Given the description of an element on the screen output the (x, y) to click on. 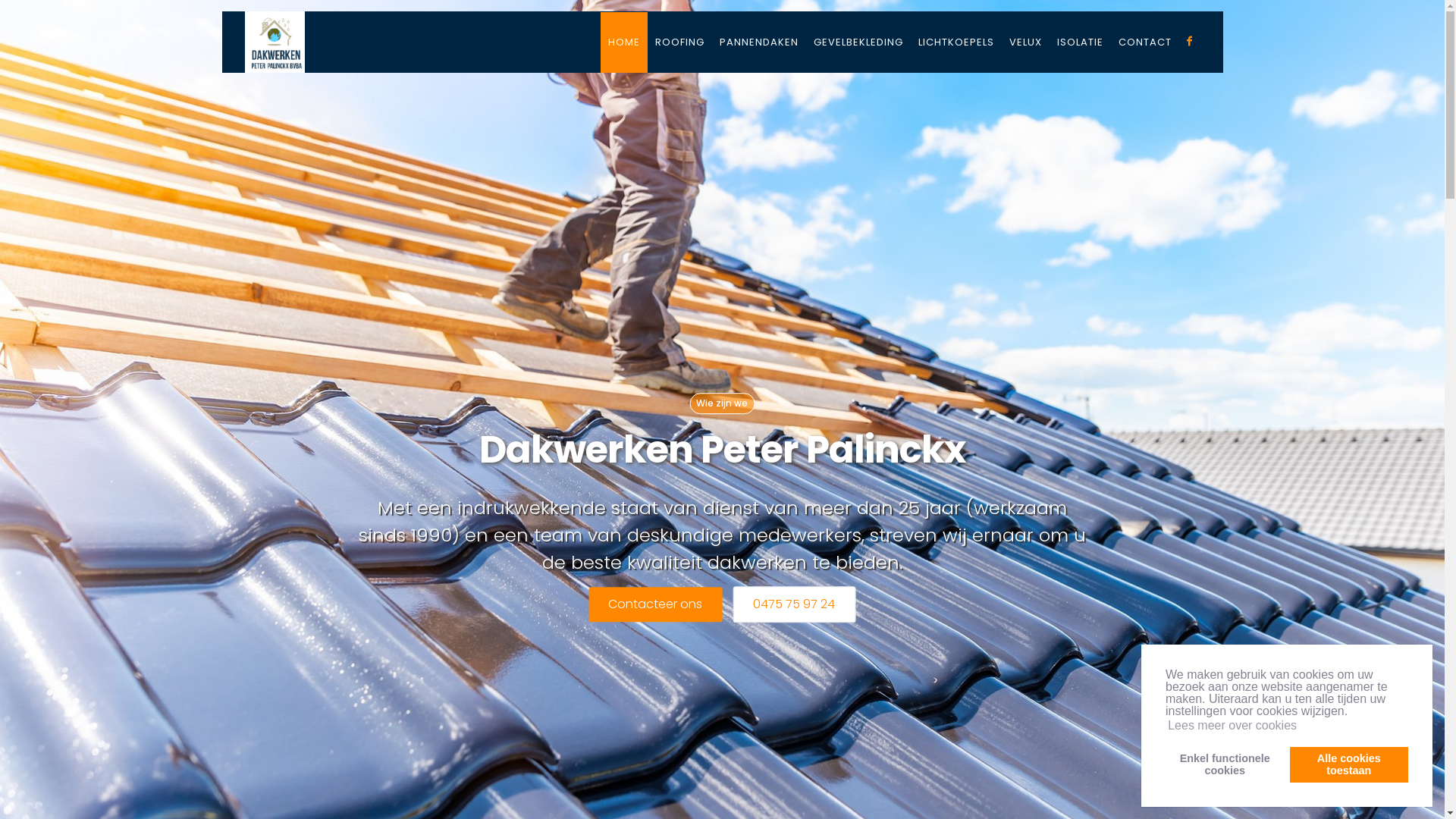
CONTACT Element type: text (1144, 42)
0475 75 97 24 Element type: text (793, 604)
PANNENDAKEN Element type: text (758, 42)
Contacteer ons Element type: text (654, 603)
GEVELBEKLEDING Element type: text (857, 42)
LICHTKOEPELS Element type: text (955, 42)
ROOFING Element type: text (679, 42)
Lees meer over cookies Element type: text (1232, 725)
Enkel functionele
cookies Element type: text (1224, 764)
ISOLATIE Element type: text (1079, 42)
Alle cookies
toestaan Element type: text (1348, 764)
HOME Element type: text (623, 42)
VELUX Element type: text (1024, 42)
